Given the description of an element on the screen output the (x, y) to click on. 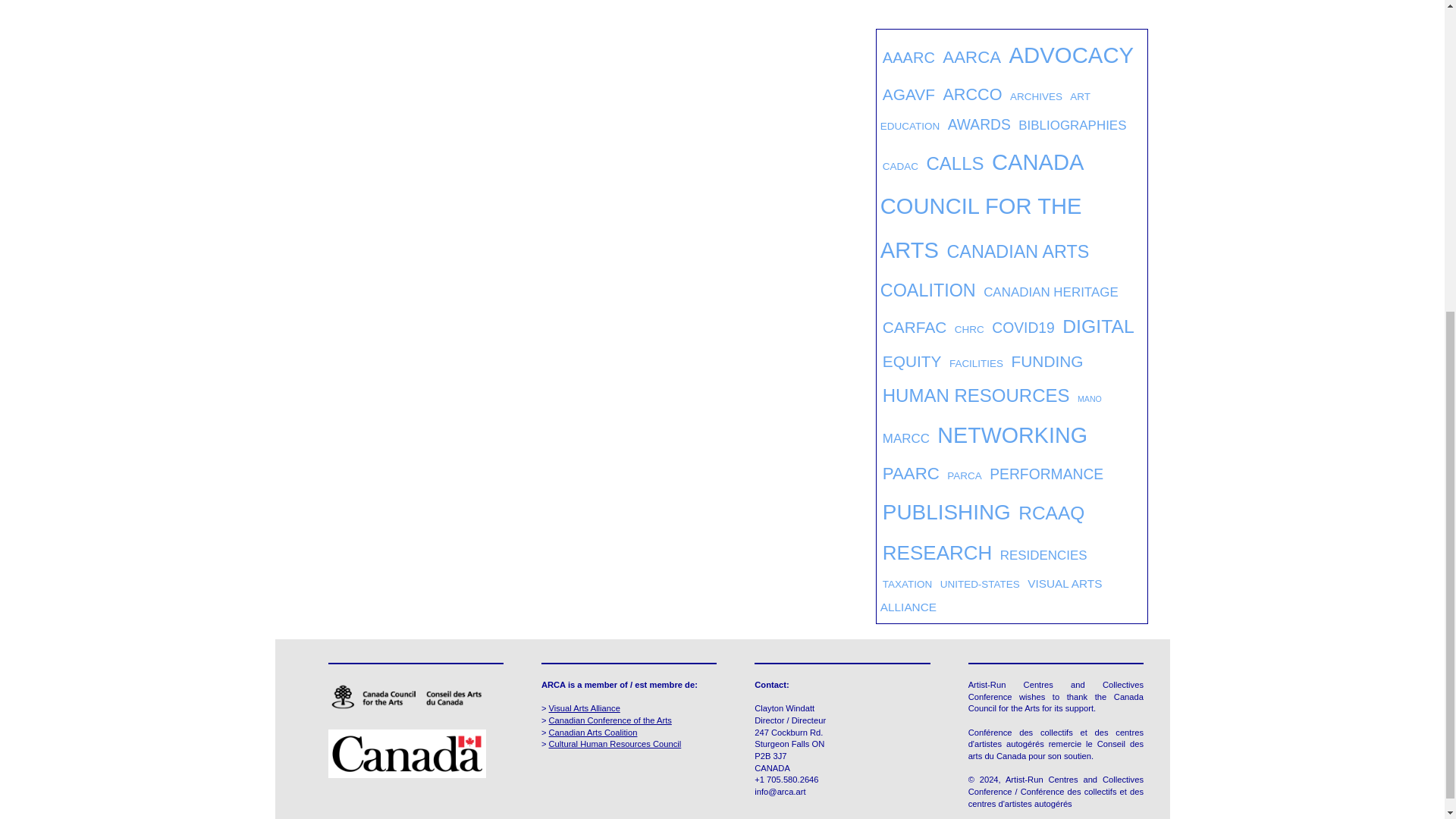
BIBLIOGRAPHIES (1071, 124)
ADVOCACY (1071, 54)
AGAVF (908, 94)
CANADIAN HERITAGE (1051, 292)
CANADA COUNCIL FOR THE ARTS (981, 205)
CARFAC (914, 326)
COVID19 (1022, 327)
MARCC (906, 438)
EQUITY (912, 361)
AAARC (908, 57)
